Given the description of an element on the screen output the (x, y) to click on. 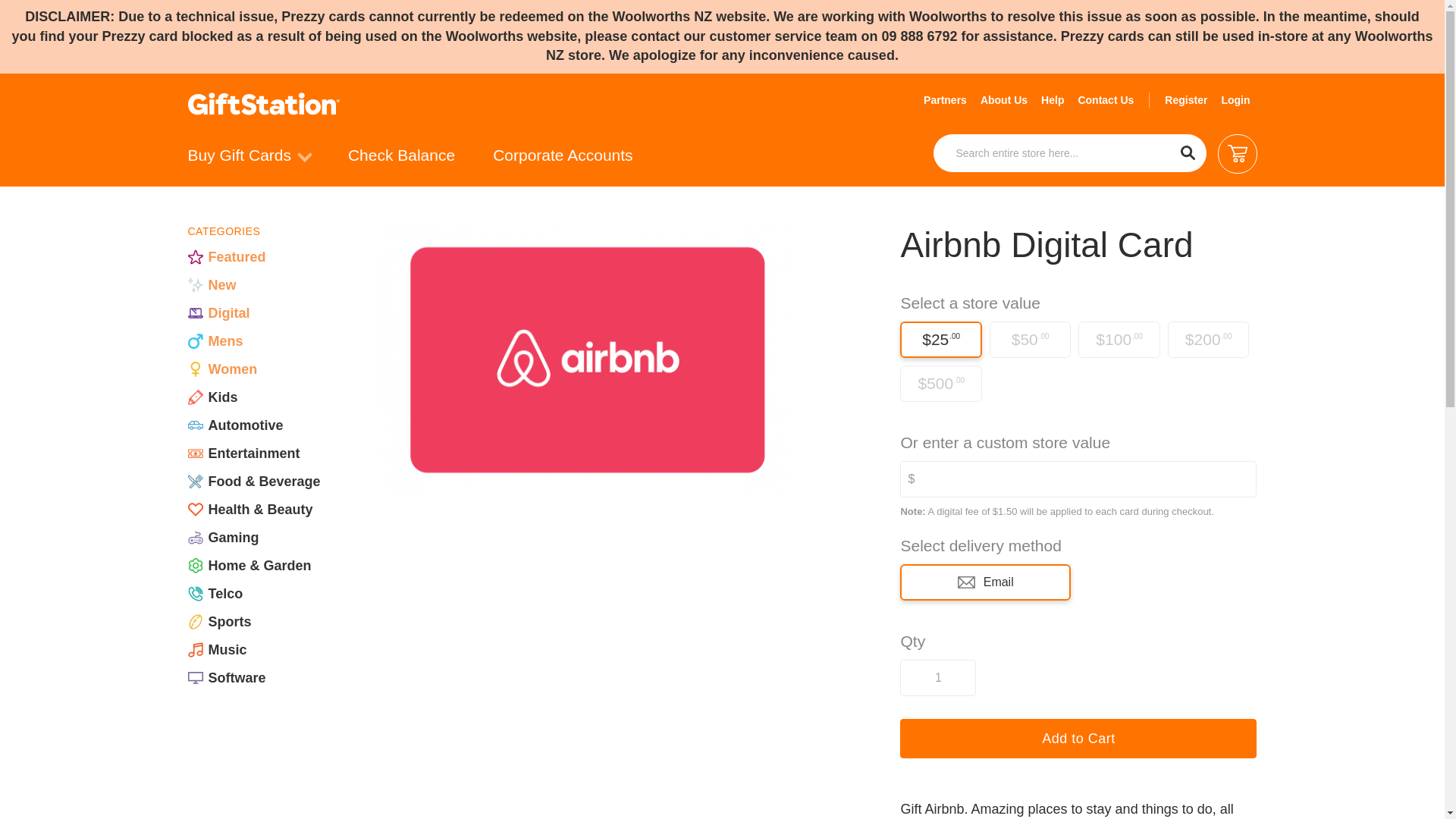
Help (1051, 99)
Login (1235, 99)
Corporate Accounts (562, 160)
Giftstation (263, 103)
Register (1185, 99)
Partners (945, 99)
Contact Us (1105, 99)
1 (937, 678)
Buy Gift Cards (248, 160)
My Cart (1237, 153)
About Us (1003, 99)
Check Balance (400, 160)
